Given the description of an element on the screen output the (x, y) to click on. 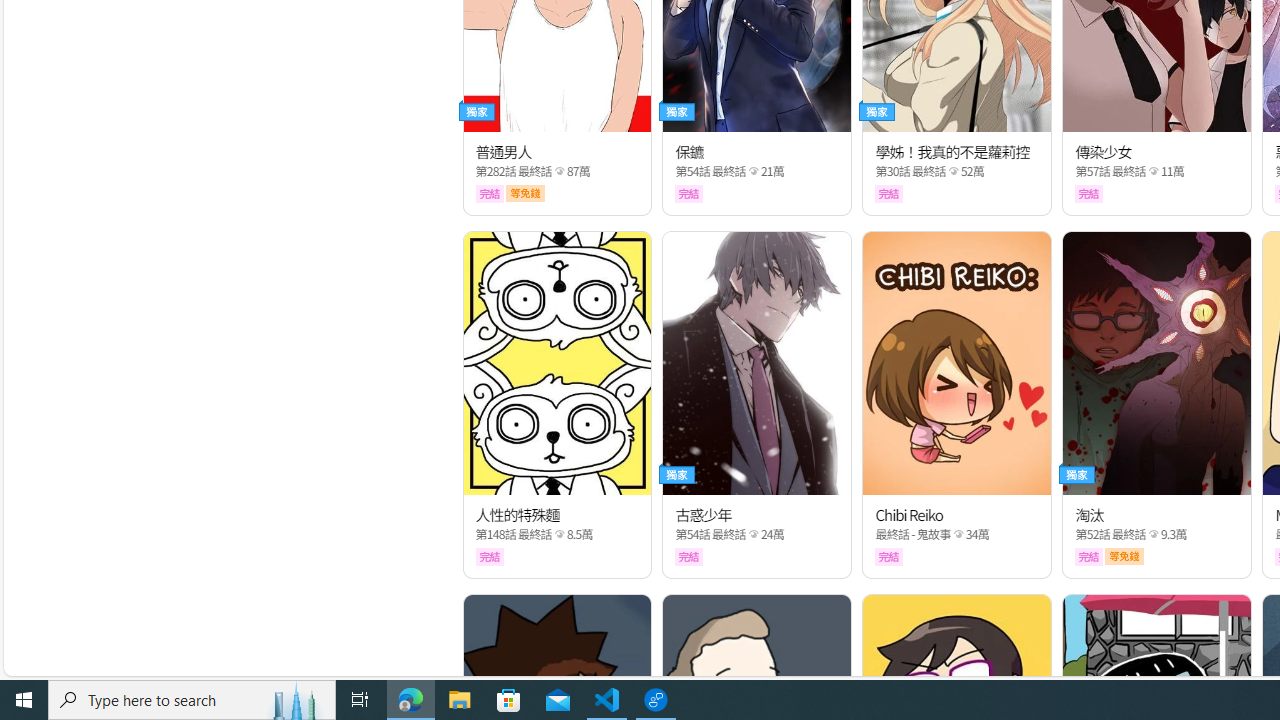
Class: thumb_img (1156, 363)
Class: epicon_starpoint (1153, 534)
